Given the description of an element on the screen output the (x, y) to click on. 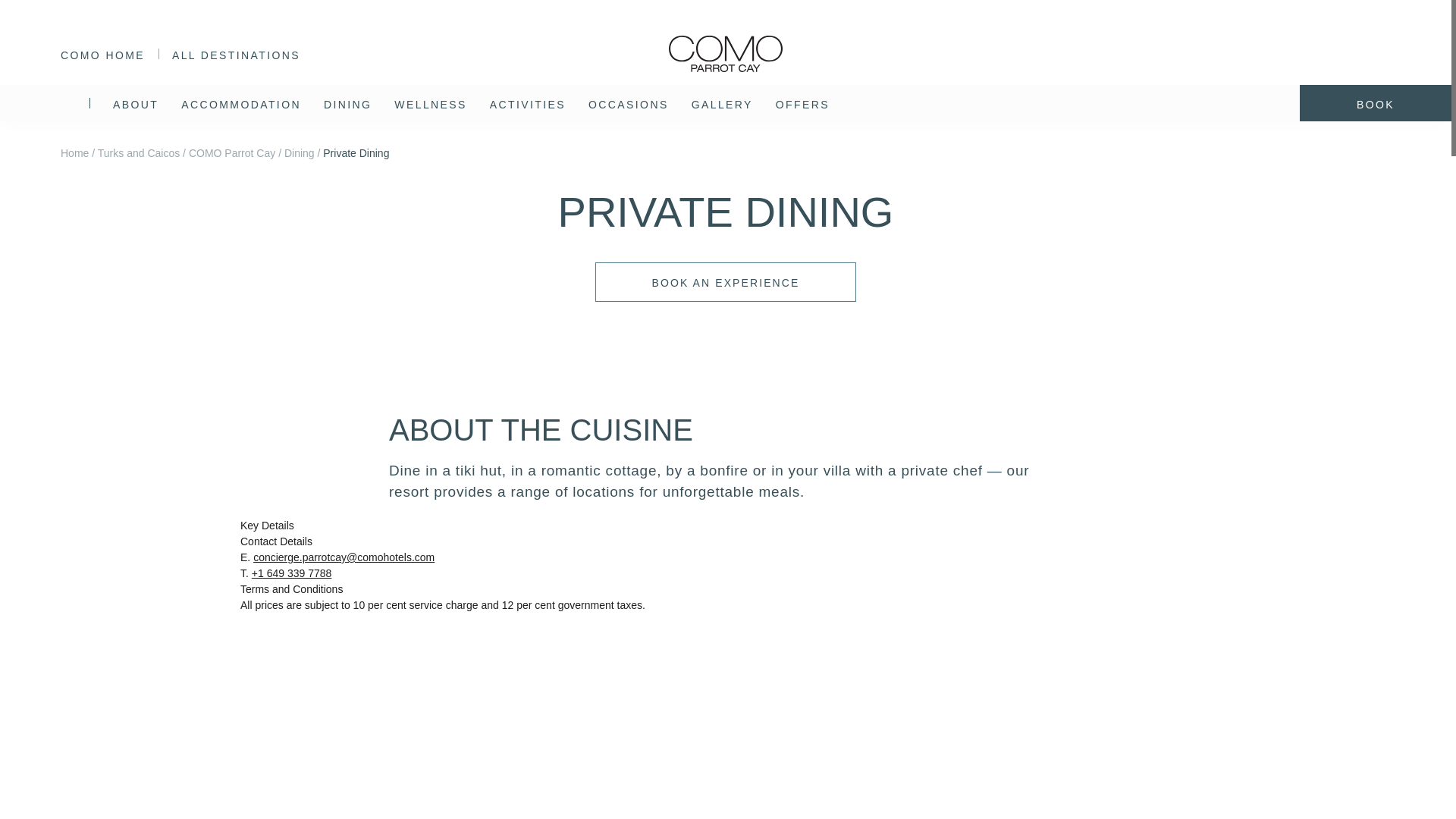
ALL DESTINATIONS (249, 54)
DINING (347, 103)
ACCOMMODATION (240, 103)
COMO Hotels and Resorts Home Page (102, 54)
WELLNESS (429, 103)
COMO HOME (102, 54)
Book an Experience (726, 282)
ABOUT (135, 103)
COMO Parrot Cay (725, 72)
